Given the description of an element on the screen output the (x, y) to click on. 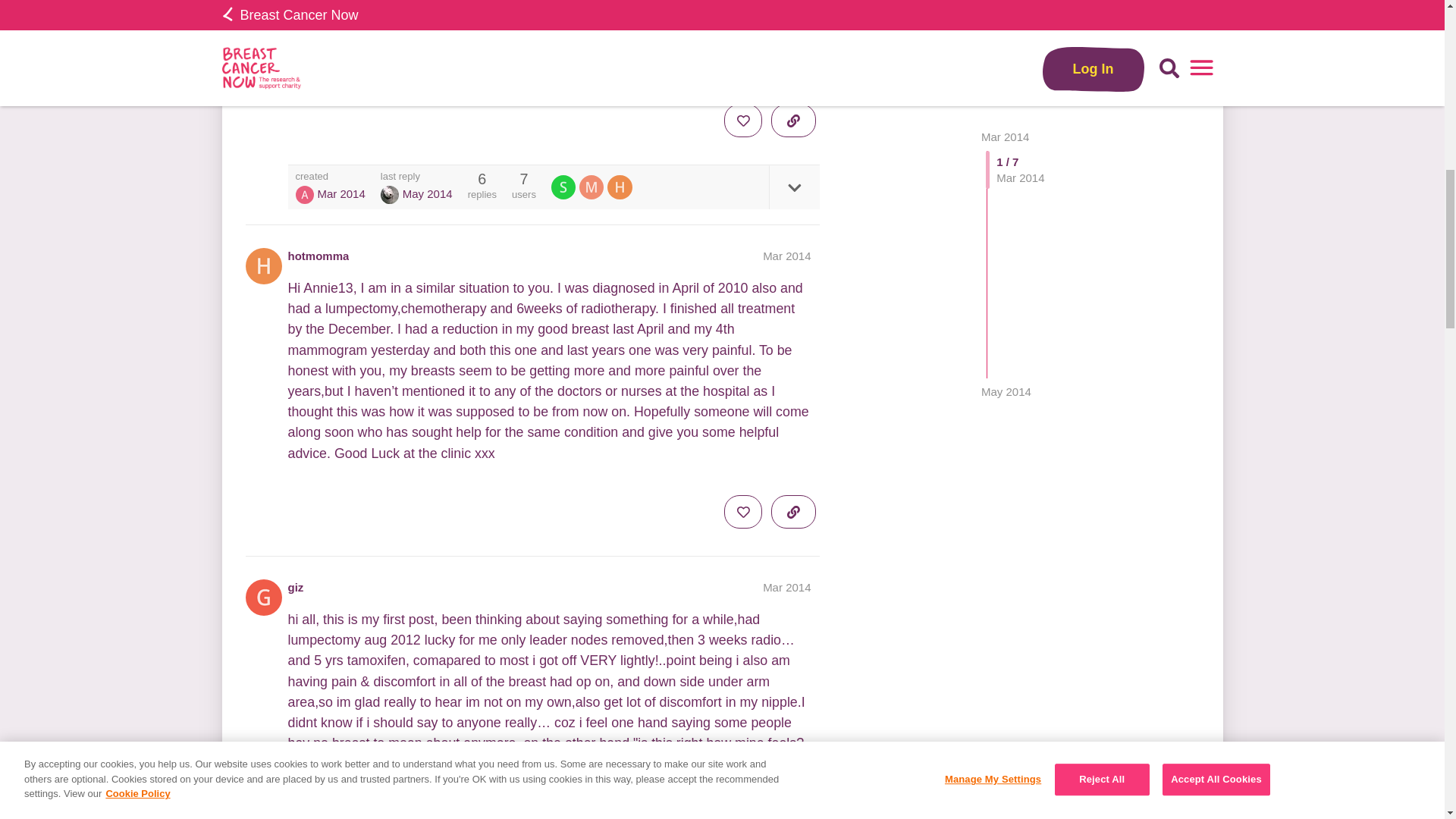
May 2014 (1005, 20)
1 May 2014 06:08 (427, 193)
Sadie1234 (563, 187)
hotmomma (318, 255)
Sadie1234 (565, 187)
annie13 (304, 194)
grumpy (389, 194)
20 Mar 2014 20:51 (341, 193)
Mar 2014 (786, 586)
1 May 2014 06:08 (1005, 20)
Mar 2014 (786, 255)
giz (296, 587)
last reply (416, 175)
like this post (742, 120)
copy a link to this post to clipboard (793, 120)
